Given the description of an element on the screen output the (x, y) to click on. 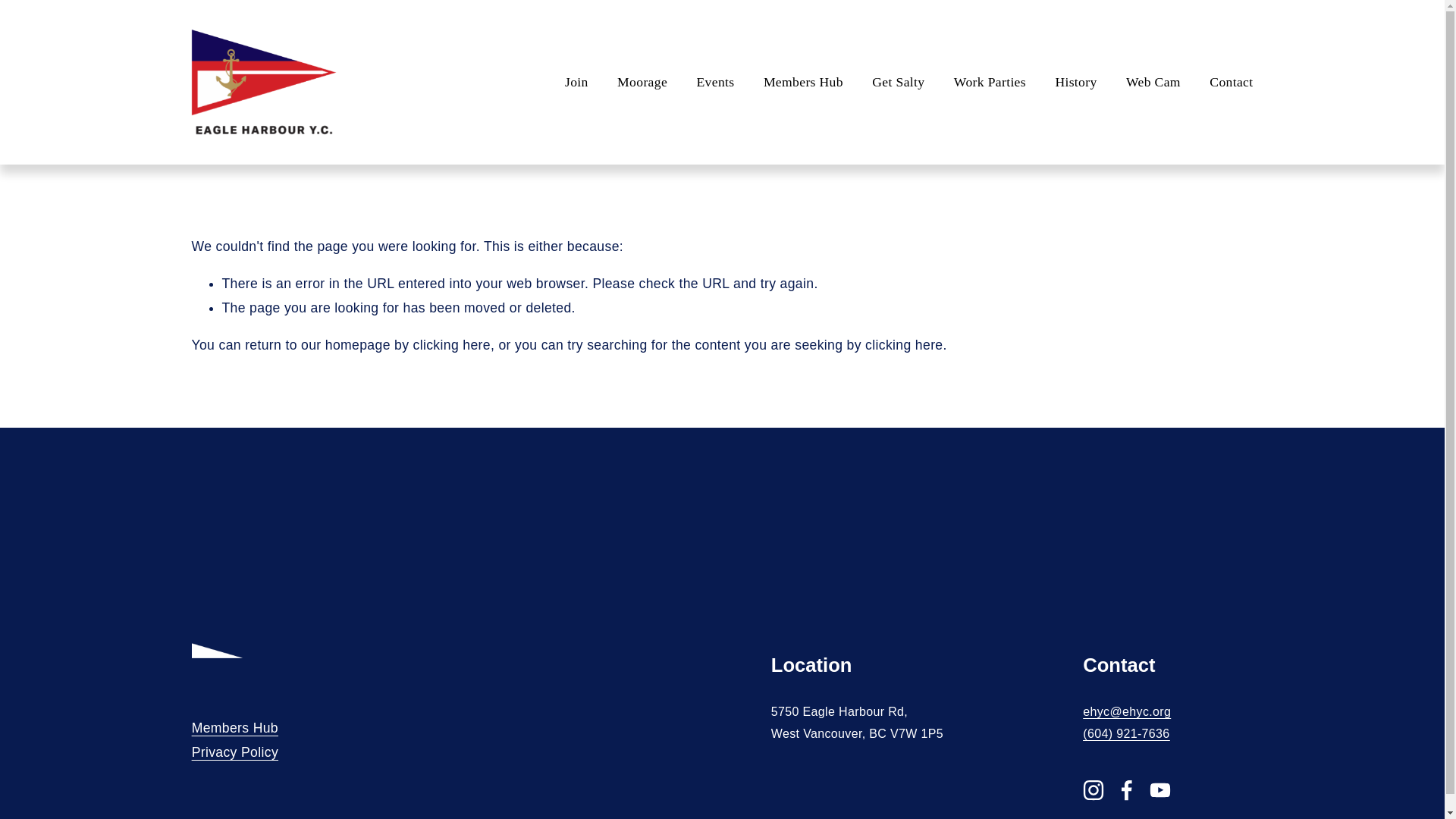
Work Parties (989, 81)
Contact (1230, 81)
Web Cam (1152, 81)
Members Hub (802, 81)
Join (576, 81)
clicking here (903, 344)
Moorage (641, 81)
Get Salty (898, 81)
clicking here (451, 344)
Events (714, 81)
